Given the description of an element on the screen output the (x, y) to click on. 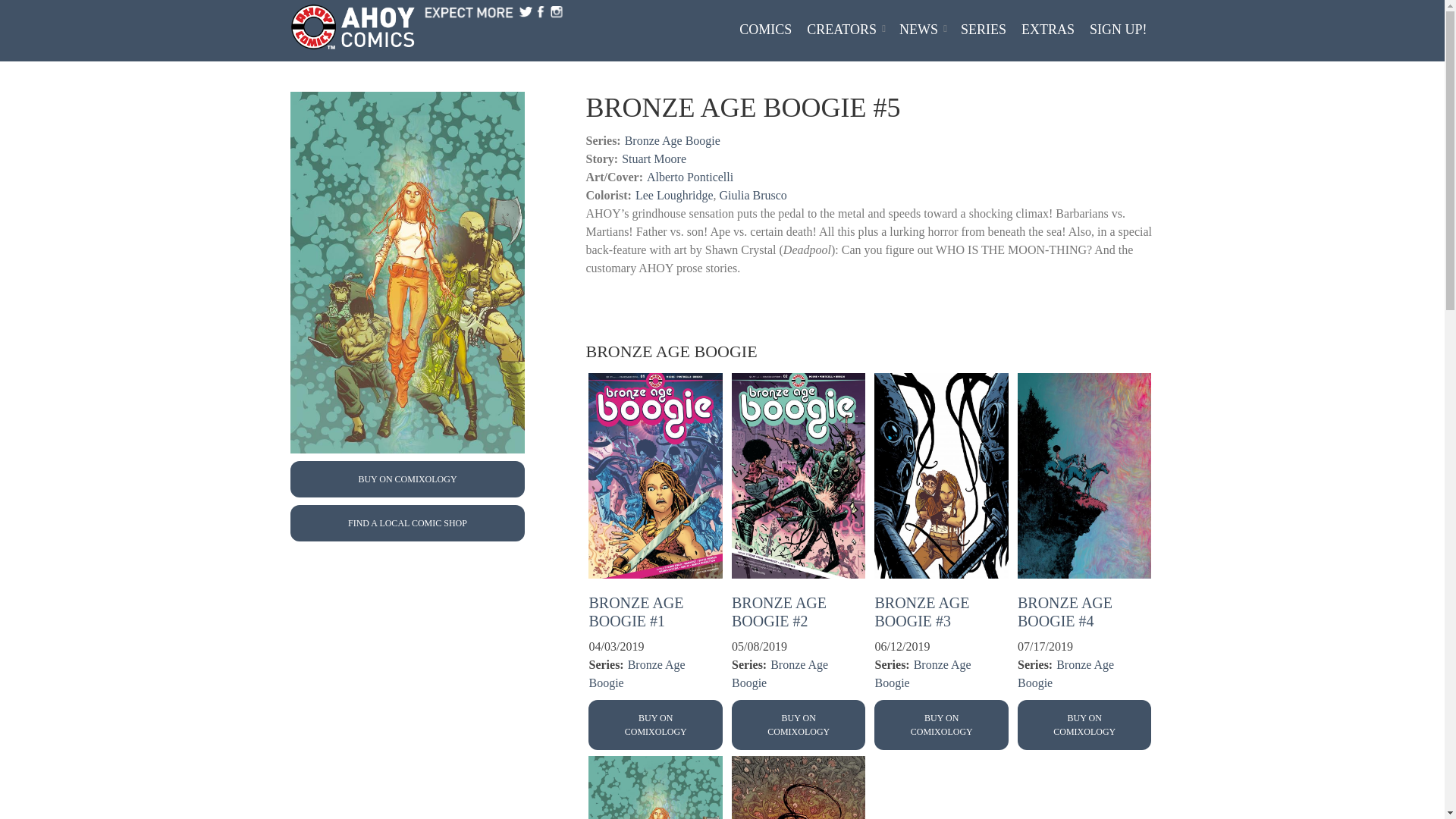
Bronze Age Boogie (672, 140)
EXTRAS (1047, 31)
Giulia Brusco (753, 195)
Bronze Age Boogie (923, 673)
BUY ON COMIXOLOGY (655, 725)
Alberto Ponticelli (689, 176)
BUY ON COMIXOLOGY (799, 725)
Lee Loughridge (673, 195)
Bronze Age Boogie (636, 673)
BUY ON COMIXOLOGY (406, 479)
Bronze Age Boogie (780, 673)
CREATORS (845, 31)
Stuart Moore (653, 158)
NEWS (922, 31)
